Given the description of an element on the screen output the (x, y) to click on. 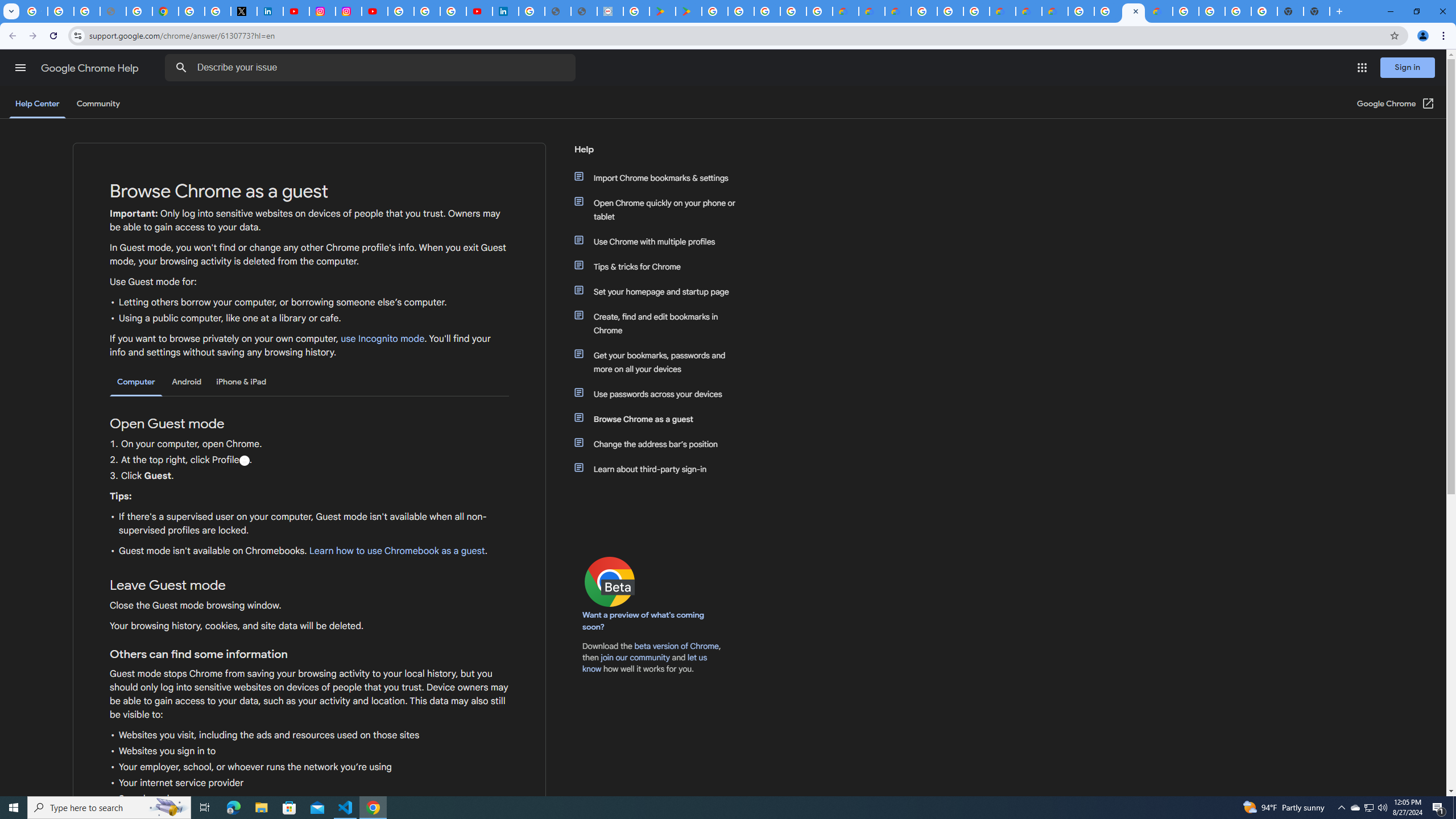
Google Cloud Service Health (1159, 11)
use Incognito mode (382, 338)
New Tab (1316, 11)
Android (186, 381)
Privacy Help Center - Policies Help (138, 11)
Learn about third-party sign-in (661, 469)
Gemini for Business and Developers | Google Cloud (897, 11)
Google Cloud Estimate Summary (1054, 11)
